Given the description of an element on the screen output the (x, y) to click on. 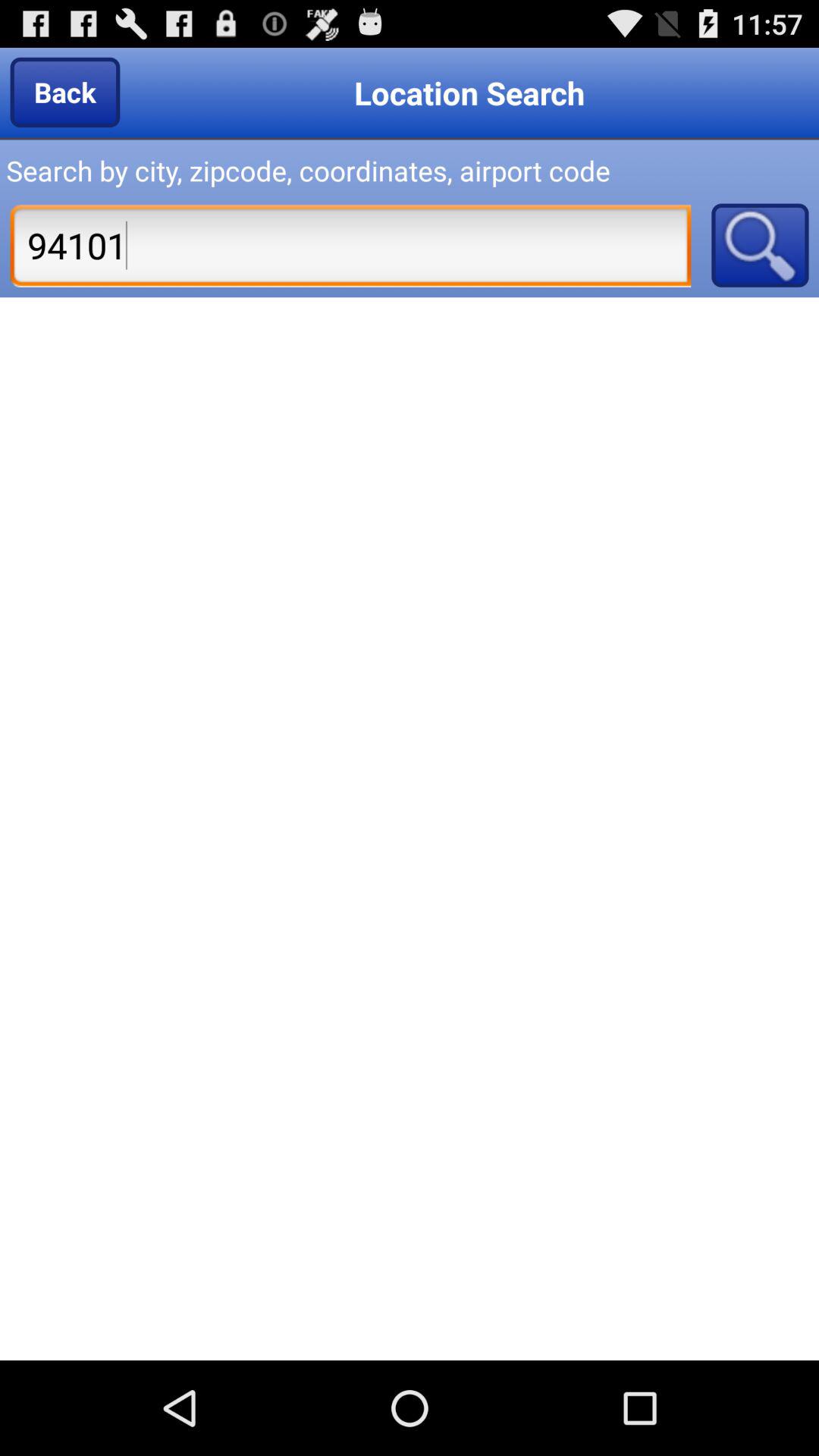
tap the 94101 icon (350, 245)
